Given the description of an element on the screen output the (x, y) to click on. 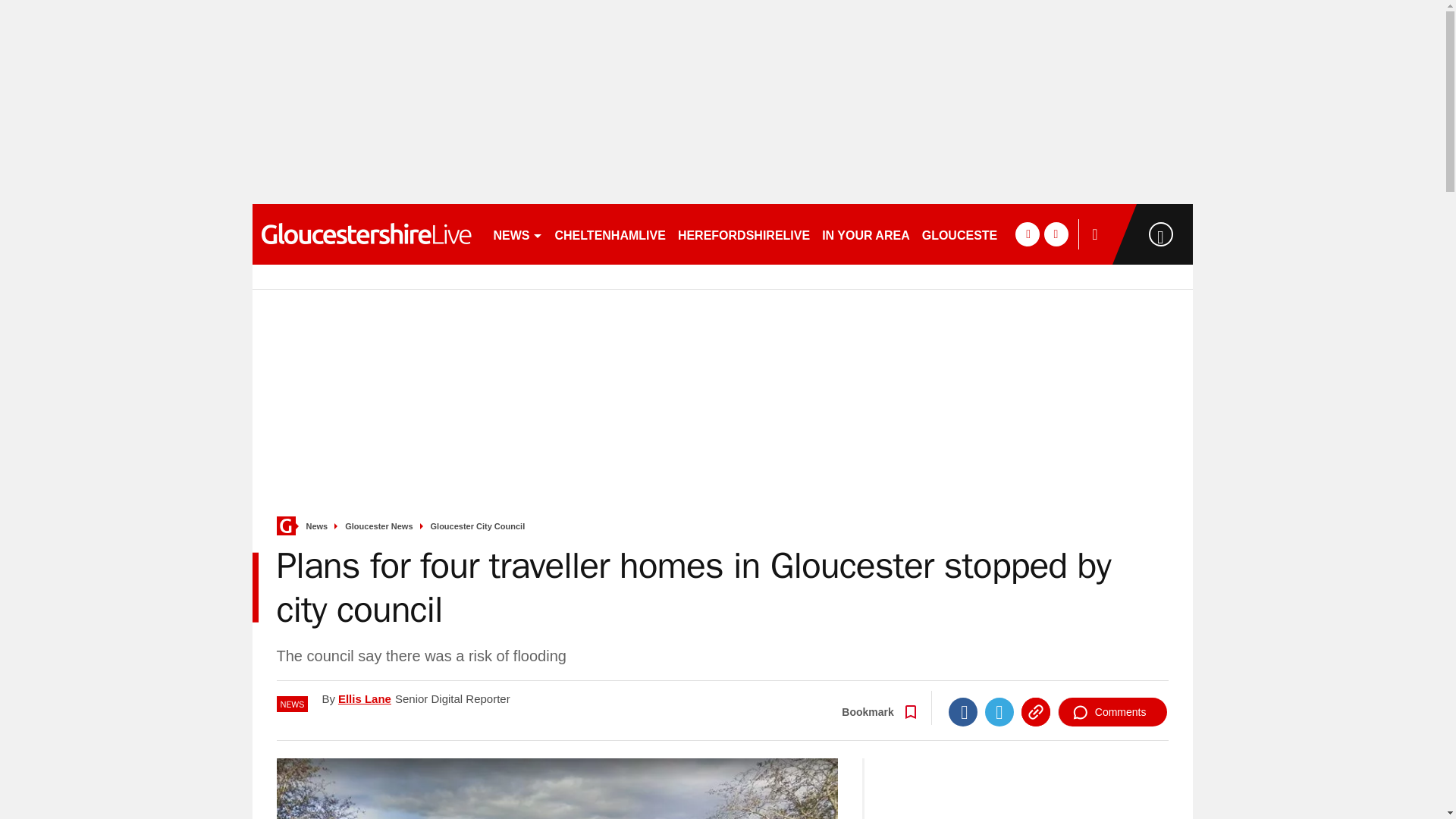
NEWS (517, 233)
CHELTENHAMLIVE (609, 233)
twitter (1055, 233)
gloucestershirelive (365, 233)
facebook (1026, 233)
Twitter (999, 711)
IN YOUR AREA (865, 233)
Facebook (962, 711)
GLOUCESTER NEWS (983, 233)
Comments (1112, 711)
